Given the description of an element on the screen output the (x, y) to click on. 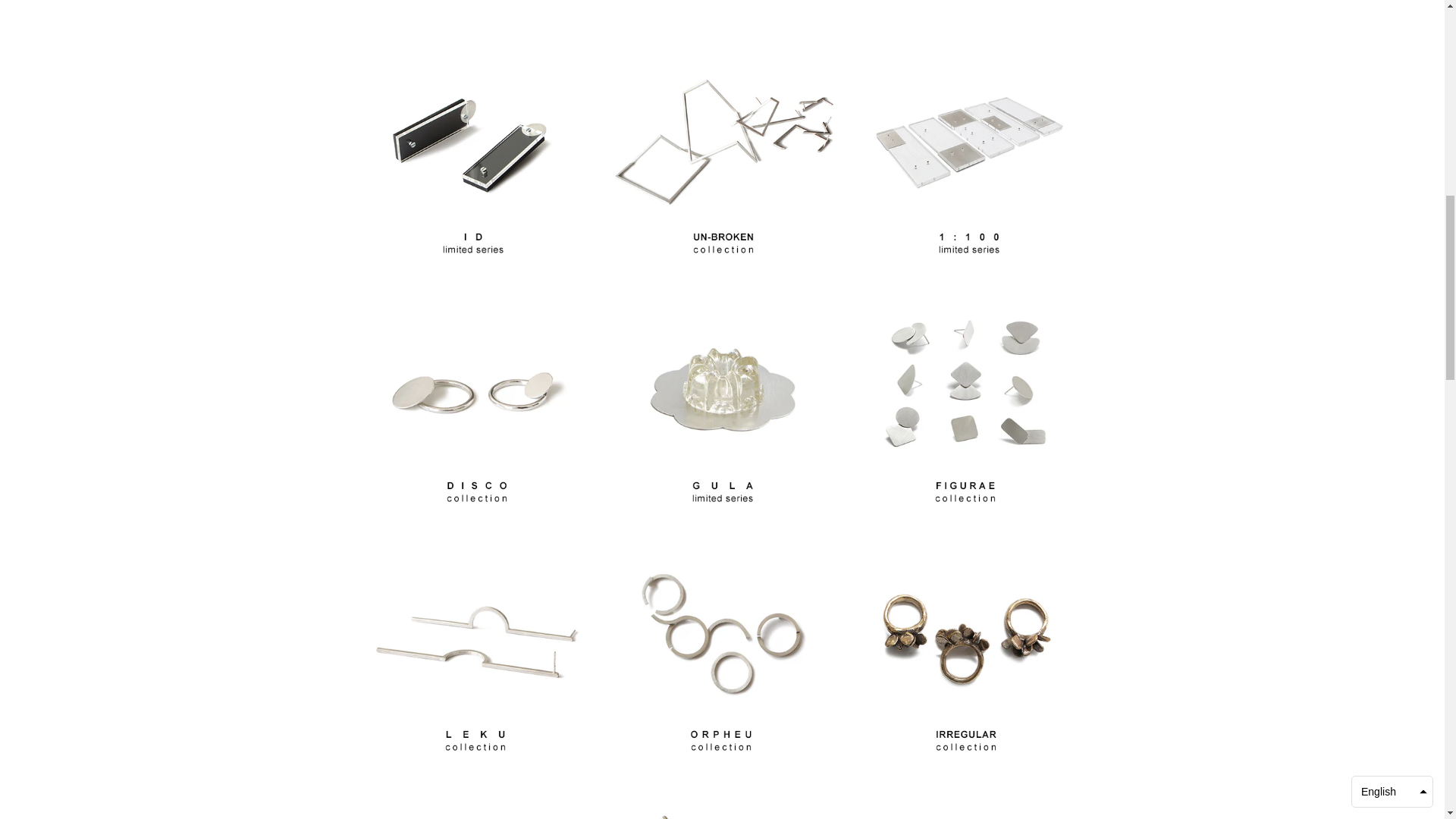
1-100 limited series (968, 262)
figurae collection (964, 510)
un-broken collection (723, 262)
orpheu collection (721, 759)
disco collection (476, 510)
leku collection (474, 759)
ID Collection (473, 261)
irregular collection (965, 759)
